Given the description of an element on the screen output the (x, y) to click on. 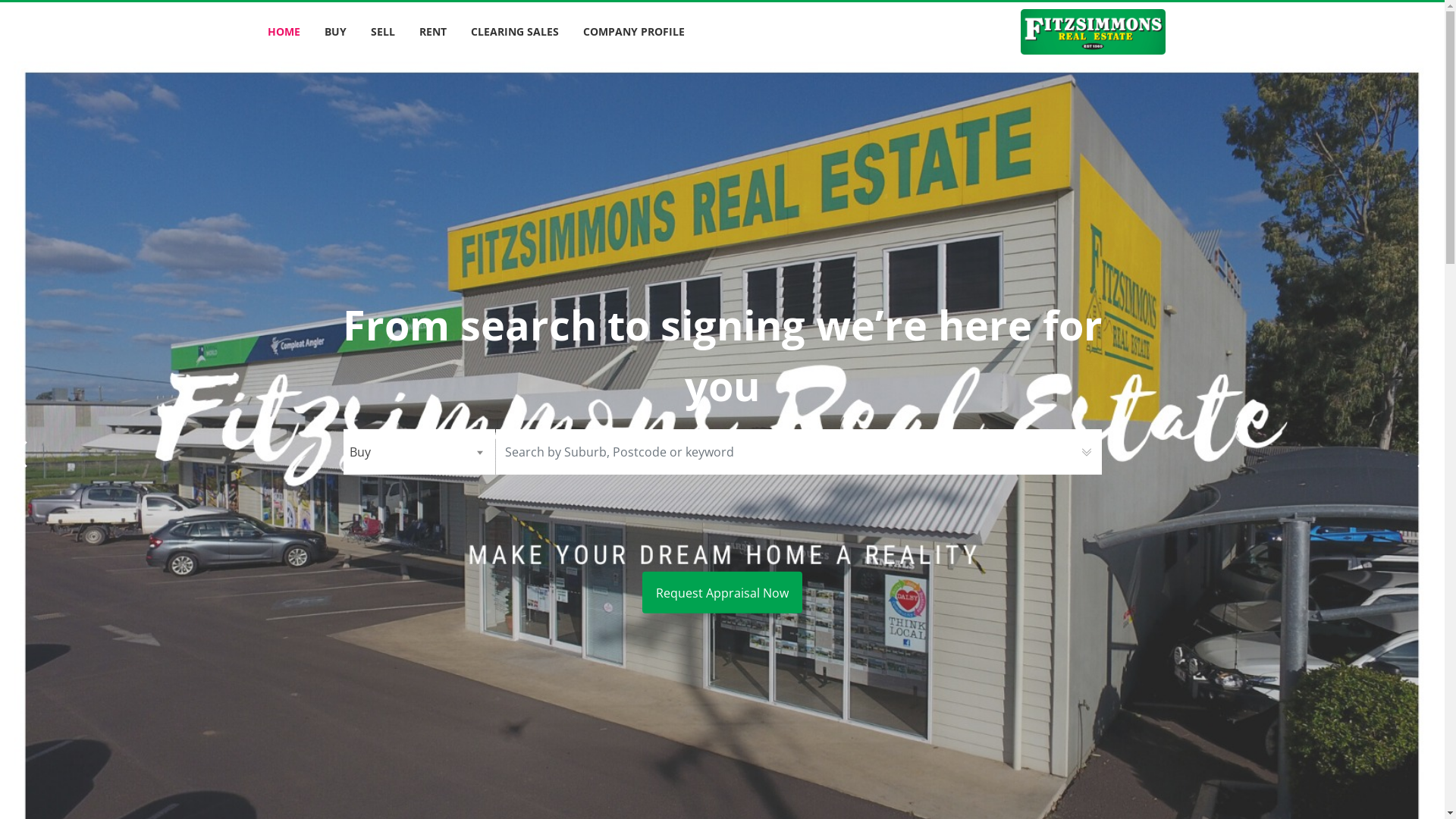
SELL Element type: text (382, 31)
HOME Element type: text (282, 31)
RENT Element type: text (431, 31)
BUY Element type: text (335, 31)
CLEARING SALES Element type: text (514, 31)
Request Appraisal Now Element type: text (722, 592)
COMPANY PROFILE Element type: text (633, 31)
